Given the description of an element on the screen output the (x, y) to click on. 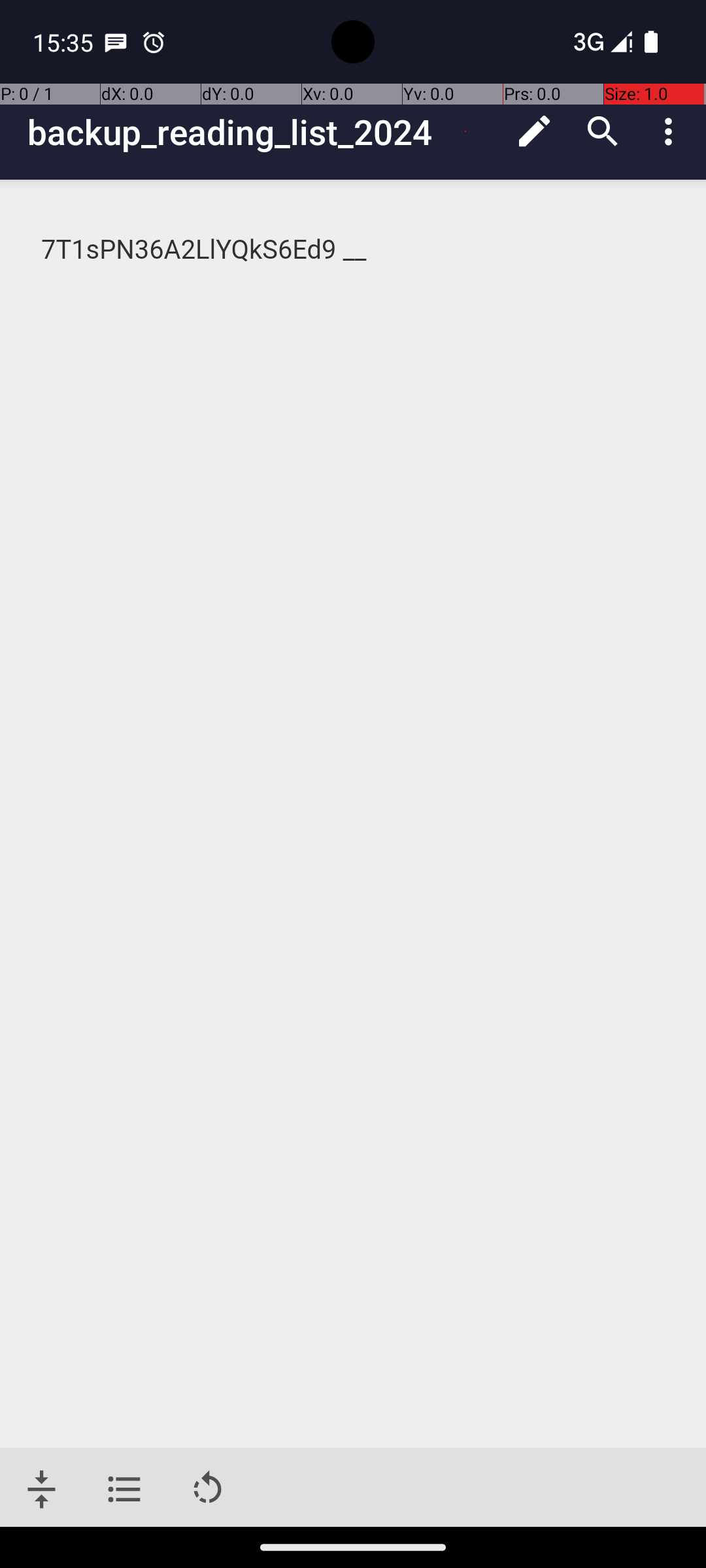
backup_reading_list_2024 Element type: android.widget.TextView (263, 131)
7T1sPN36A2LlYQkS6Ed9 __ Element type: android.widget.TextView (354, 249)
